Given the description of an element on the screen output the (x, y) to click on. 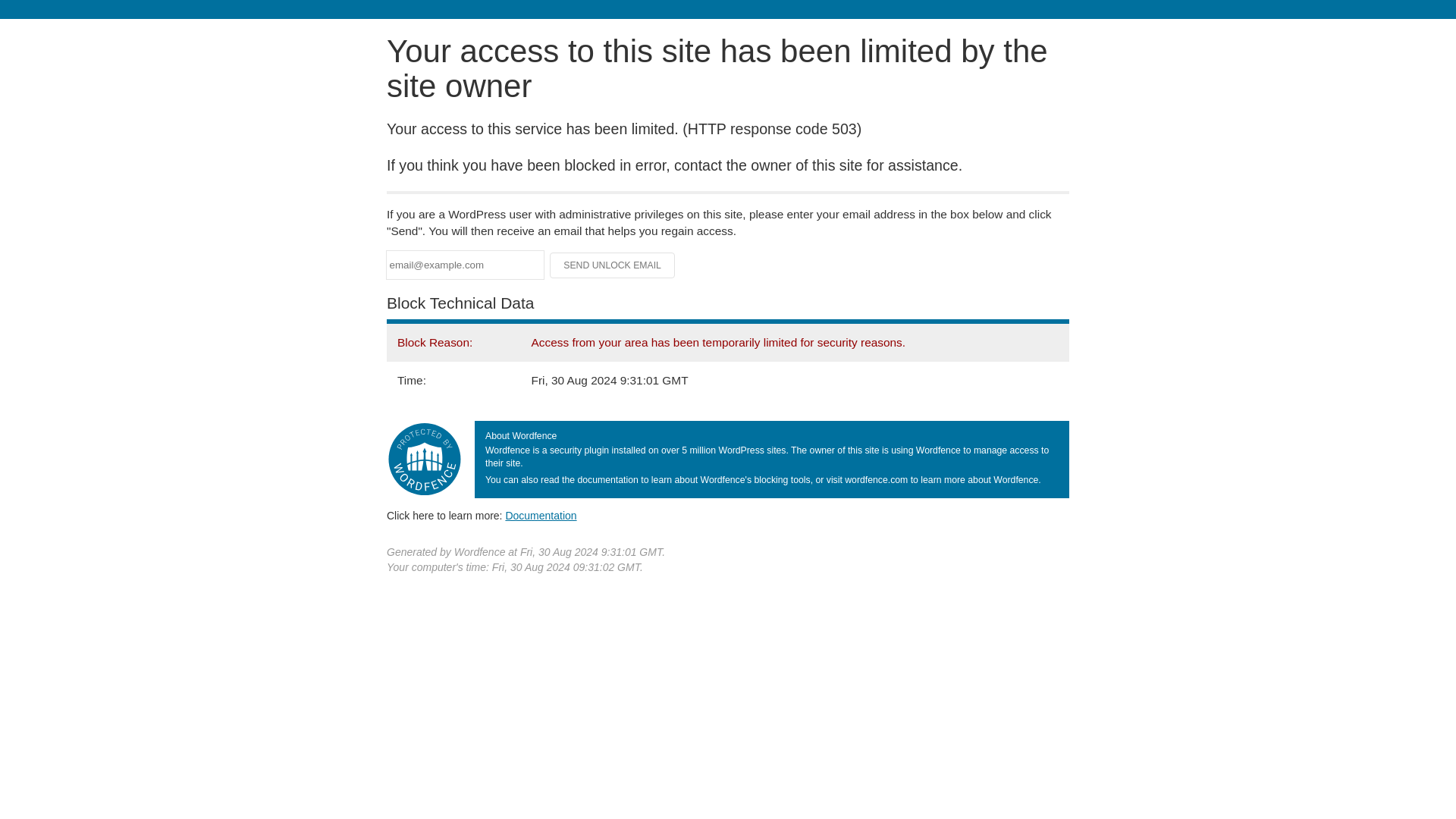
Send Unlock Email (612, 265)
Send Unlock Email (612, 265)
Documentation (540, 515)
